Given the description of an element on the screen output the (x, y) to click on. 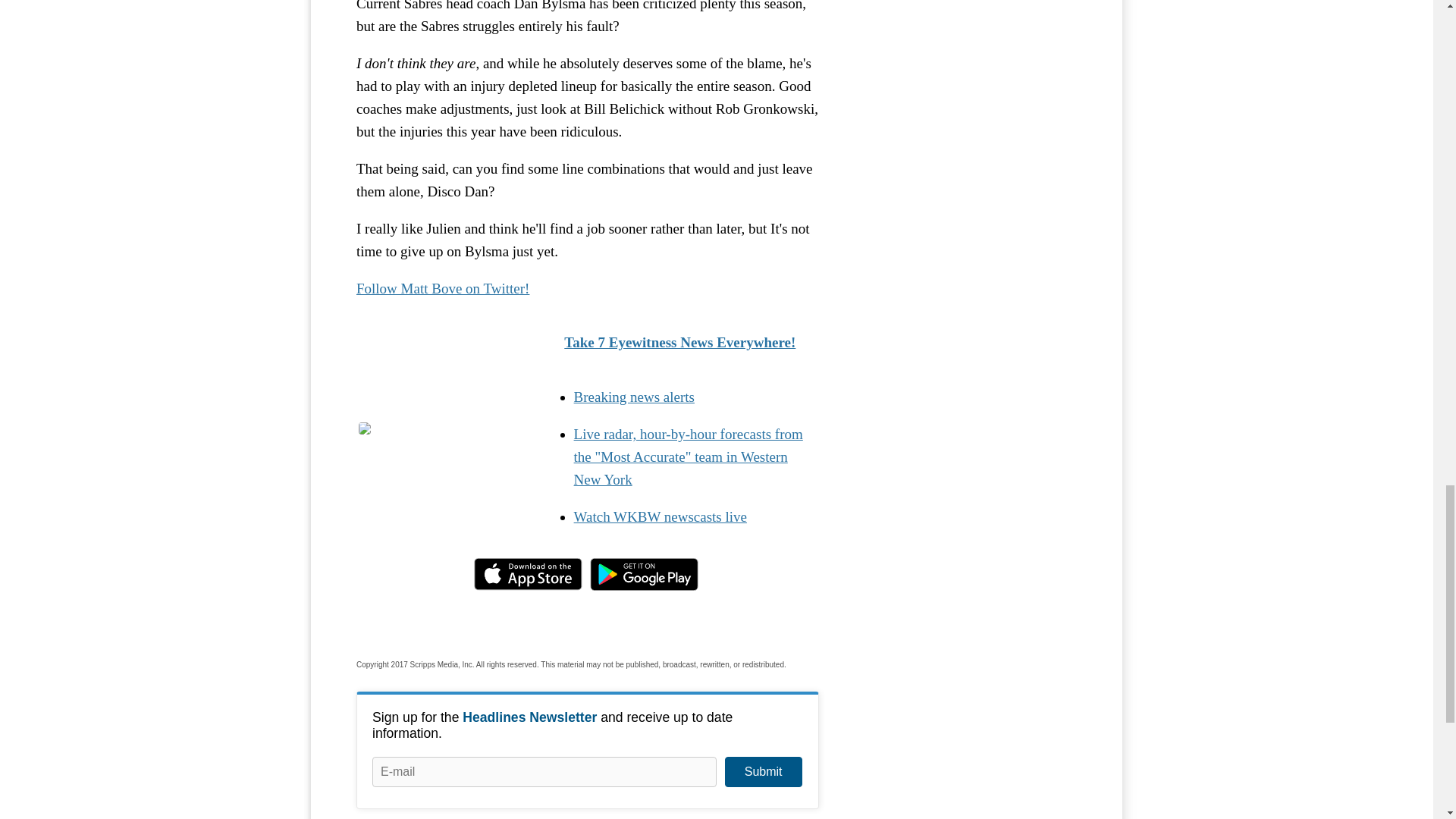
Submit (763, 771)
